Given the description of an element on the screen output the (x, y) to click on. 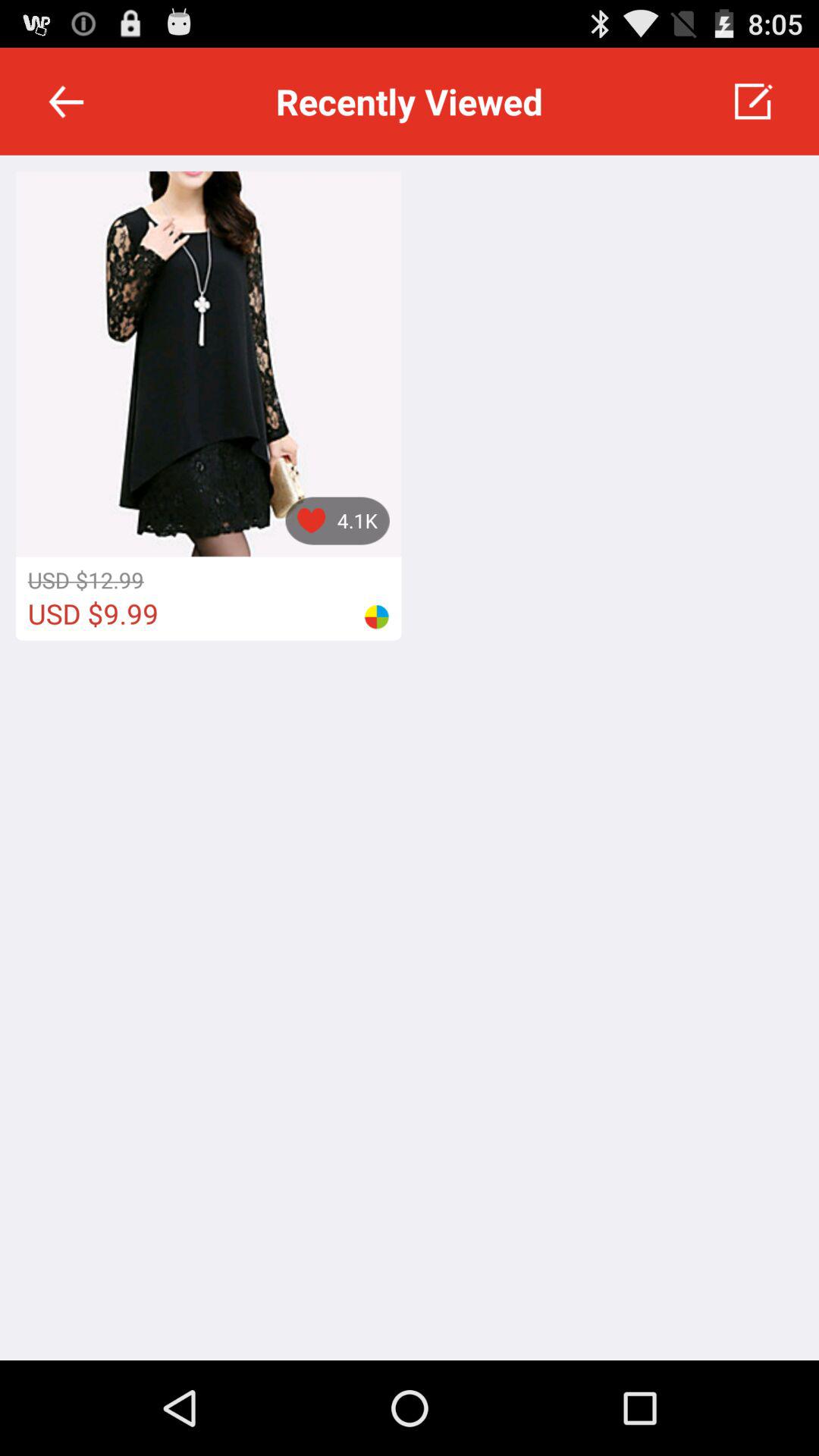
open item next to the recently viewed item (65, 101)
